Given the description of an element on the screen output the (x, y) to click on. 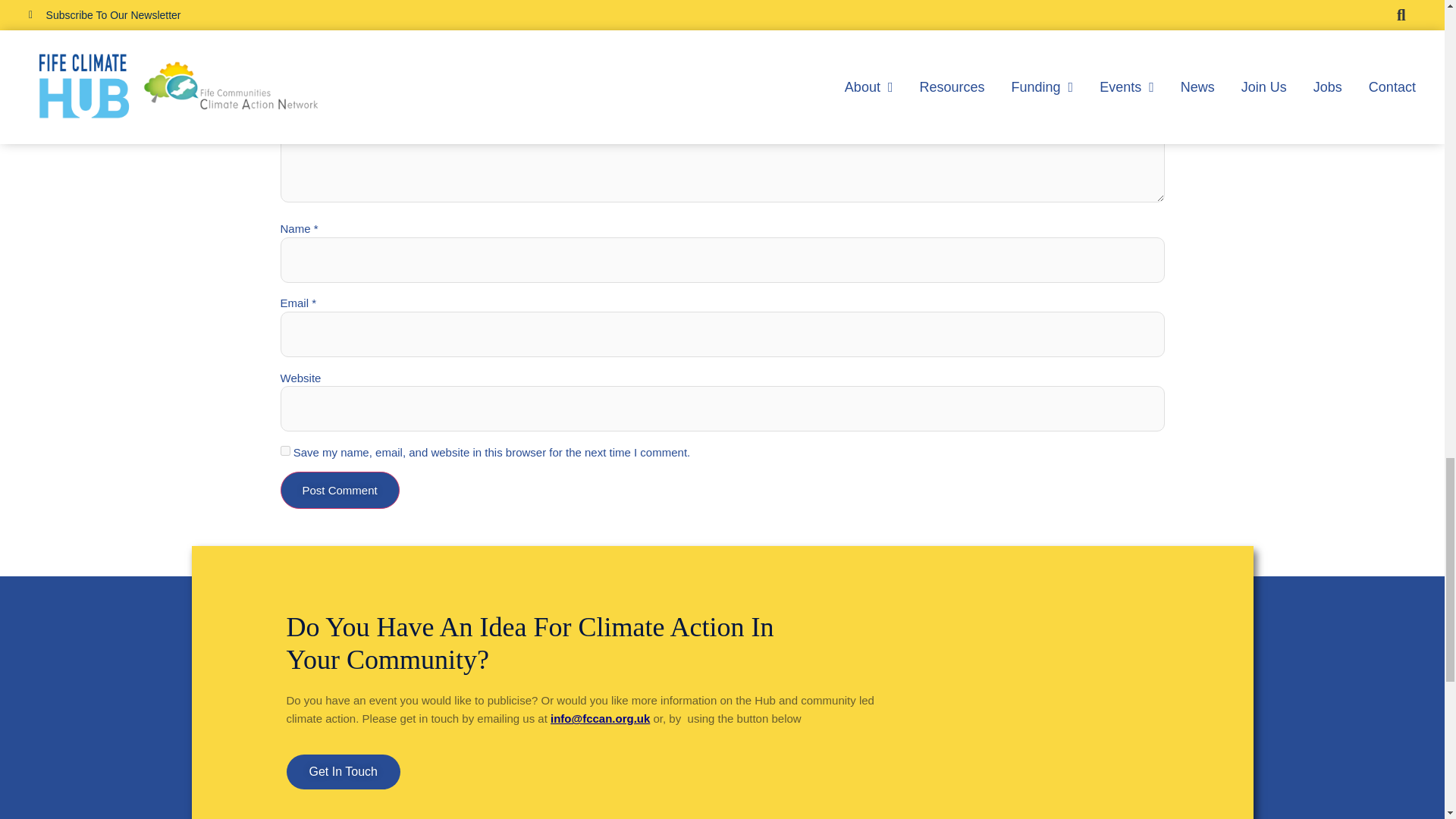
Post Comment (339, 489)
yes (285, 450)
